Given the description of an element on the screen output the (x, y) to click on. 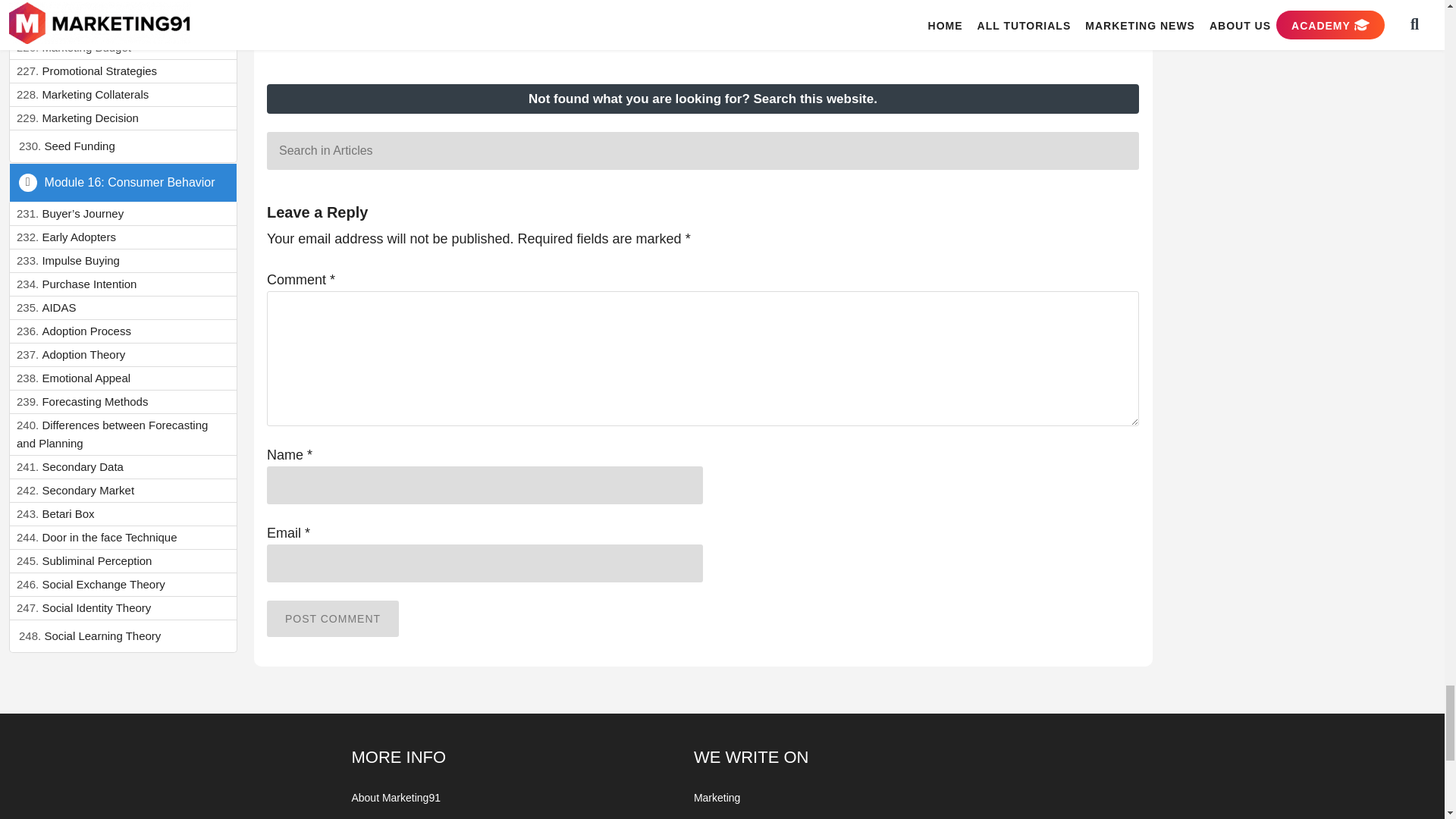
Post Comment (332, 618)
